Given the description of an element on the screen output the (x, y) to click on. 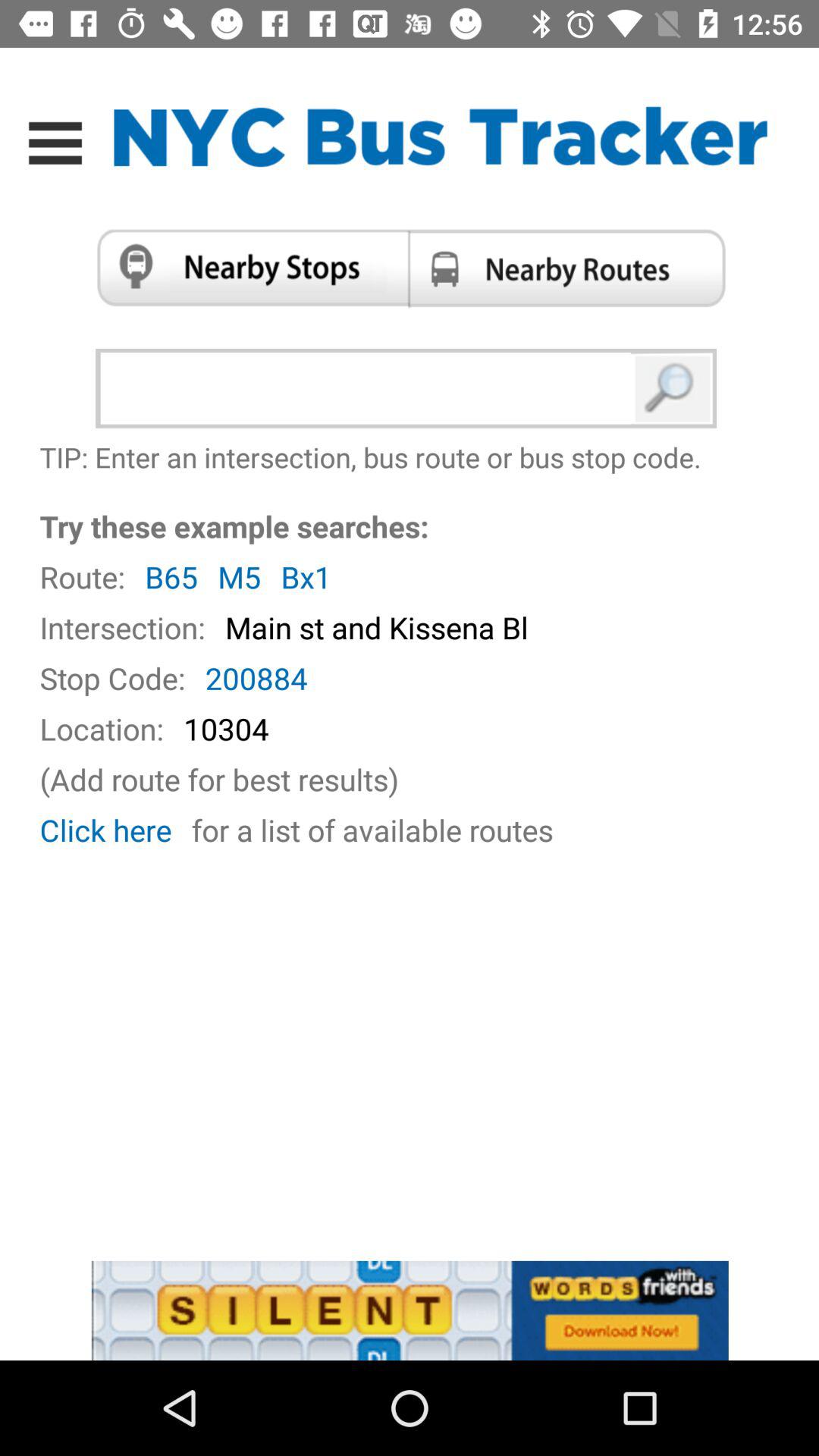
advertisement display (409, 1310)
